Given the description of an element on the screen output the (x, y) to click on. 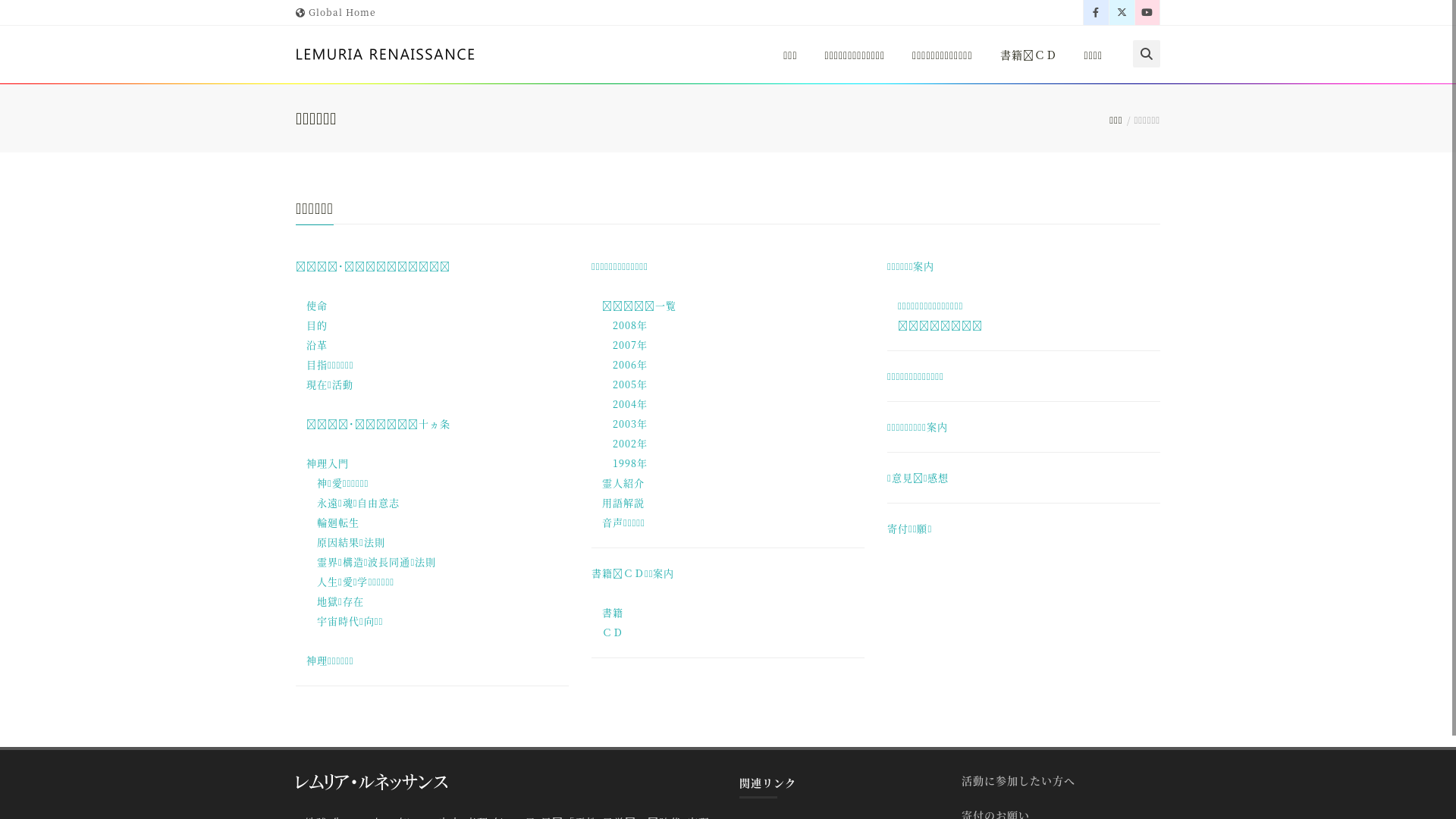
Global Home Element type: text (335, 12)
